Given the description of an element on the screen output the (x, y) to click on. 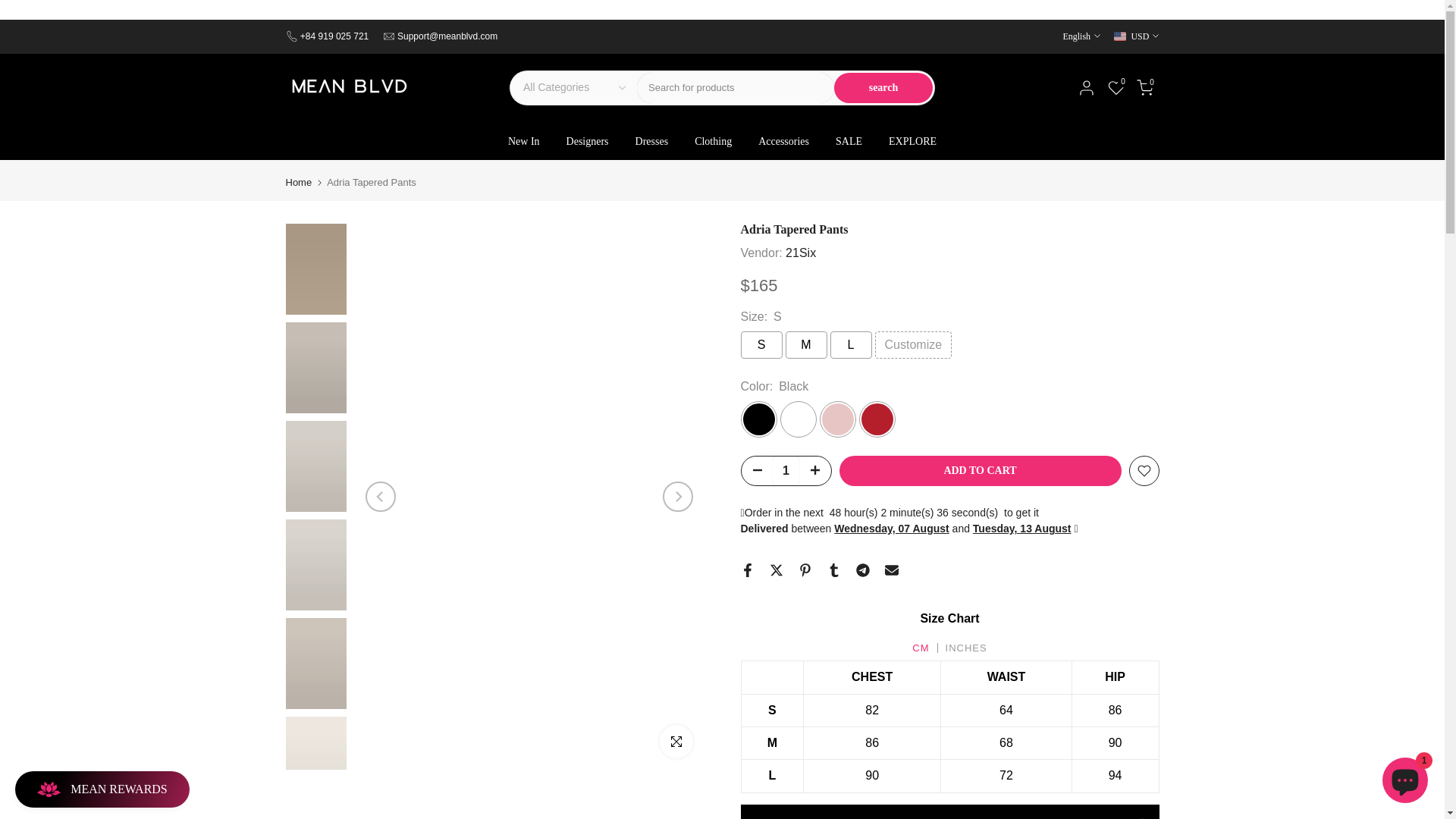
USD (1135, 36)
New In (524, 141)
Share on Telegram (862, 570)
0 (1115, 87)
Shopify online store chat (1404, 781)
Share on Facebook (746, 570)
1 (786, 470)
Skip to content (10, 26)
Share on Twitter (775, 570)
English (1081, 36)
